Given the description of an element on the screen output the (x, y) to click on. 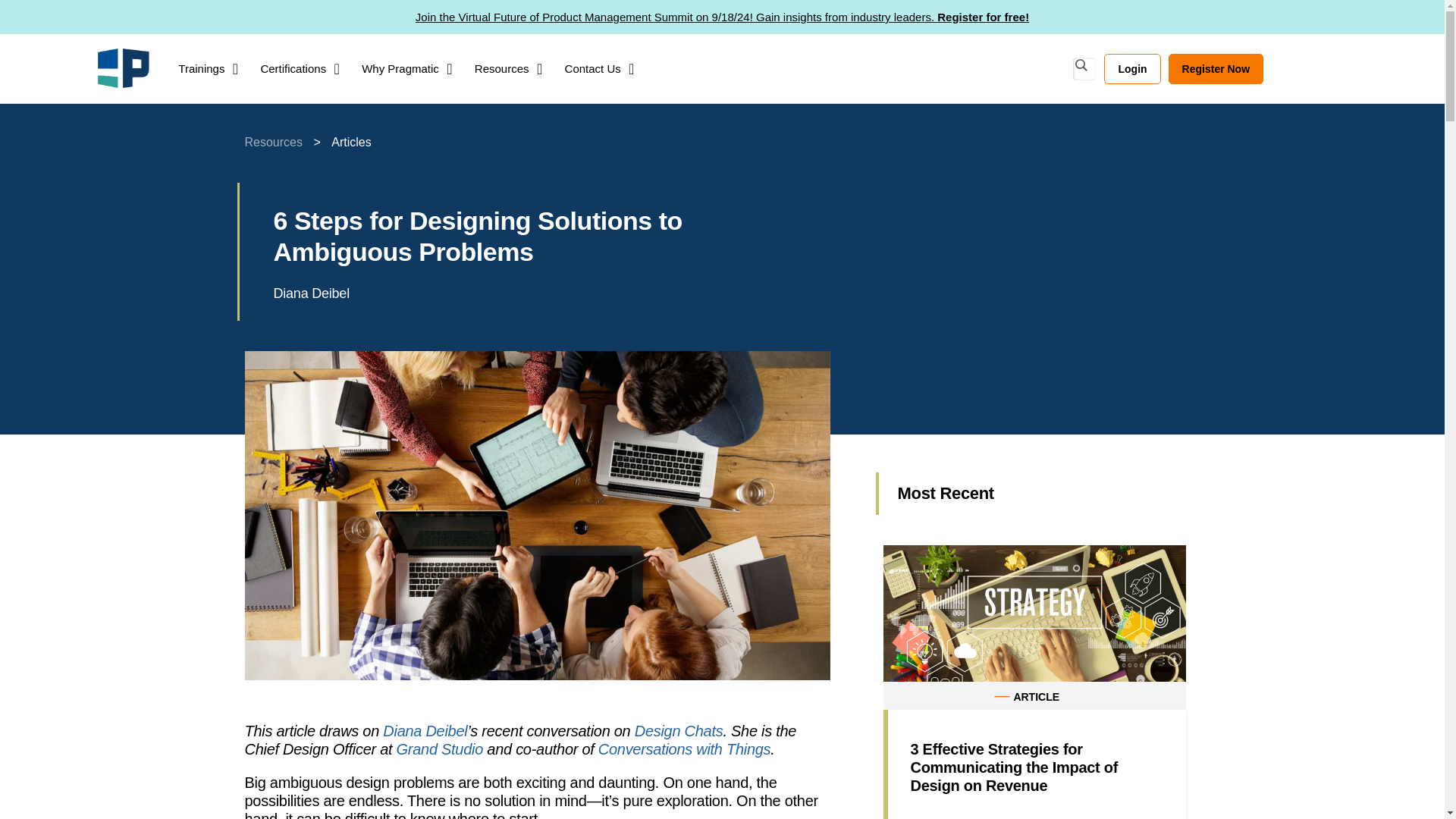
Resources (501, 68)
Certifications (293, 68)
Trainings (200, 68)
Diana Deibel (311, 293)
Why Pragmatic (400, 68)
